Given the description of an element on the screen output the (x, y) to click on. 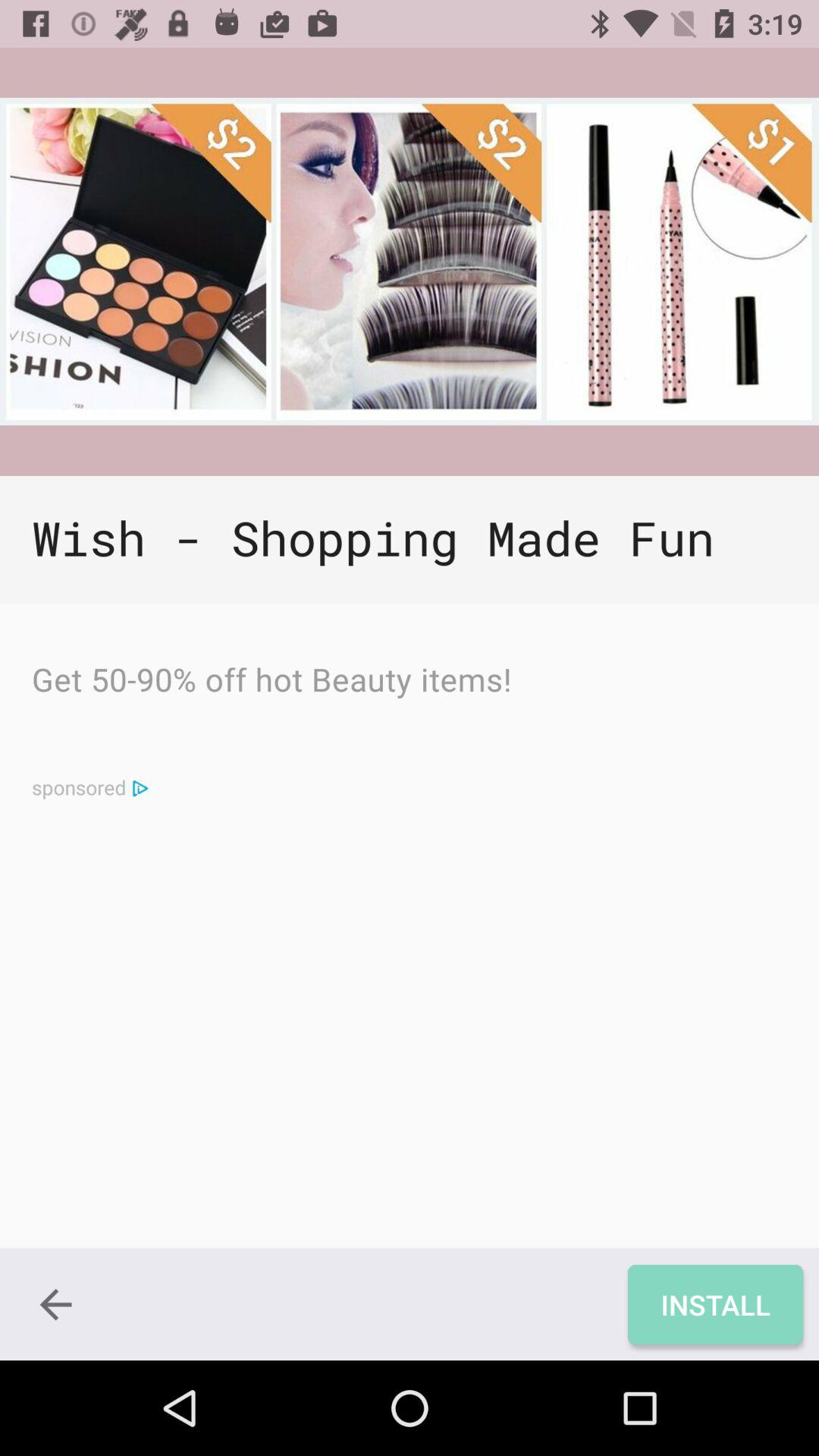
click install item (715, 1304)
